Given the description of an element on the screen output the (x, y) to click on. 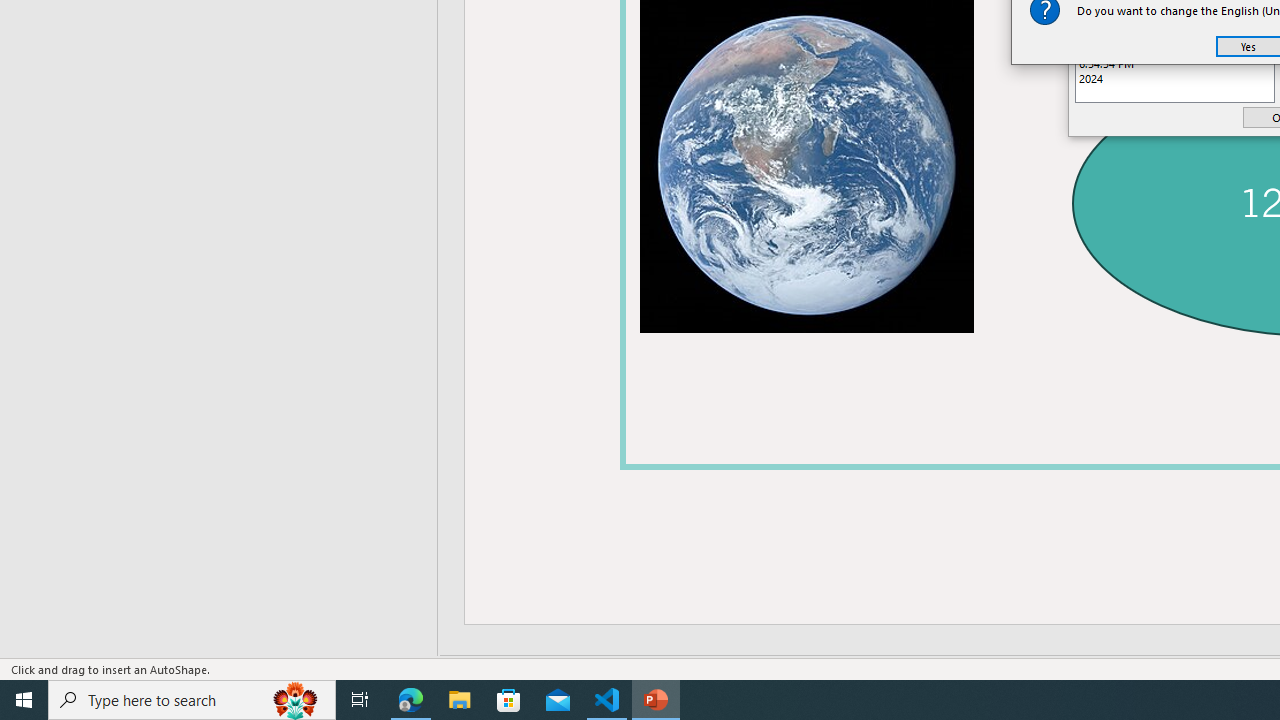
Start (24, 699)
Visual Studio Code - 1 running window (607, 699)
Search highlights icon opens search home window (295, 699)
Microsoft Store (509, 699)
File Explorer (460, 699)
Microsoft Edge - 1 running window (411, 699)
Task View (359, 699)
PowerPoint - 1 running window (656, 699)
Type here to search (191, 699)
